Given the description of an element on the screen output the (x, y) to click on. 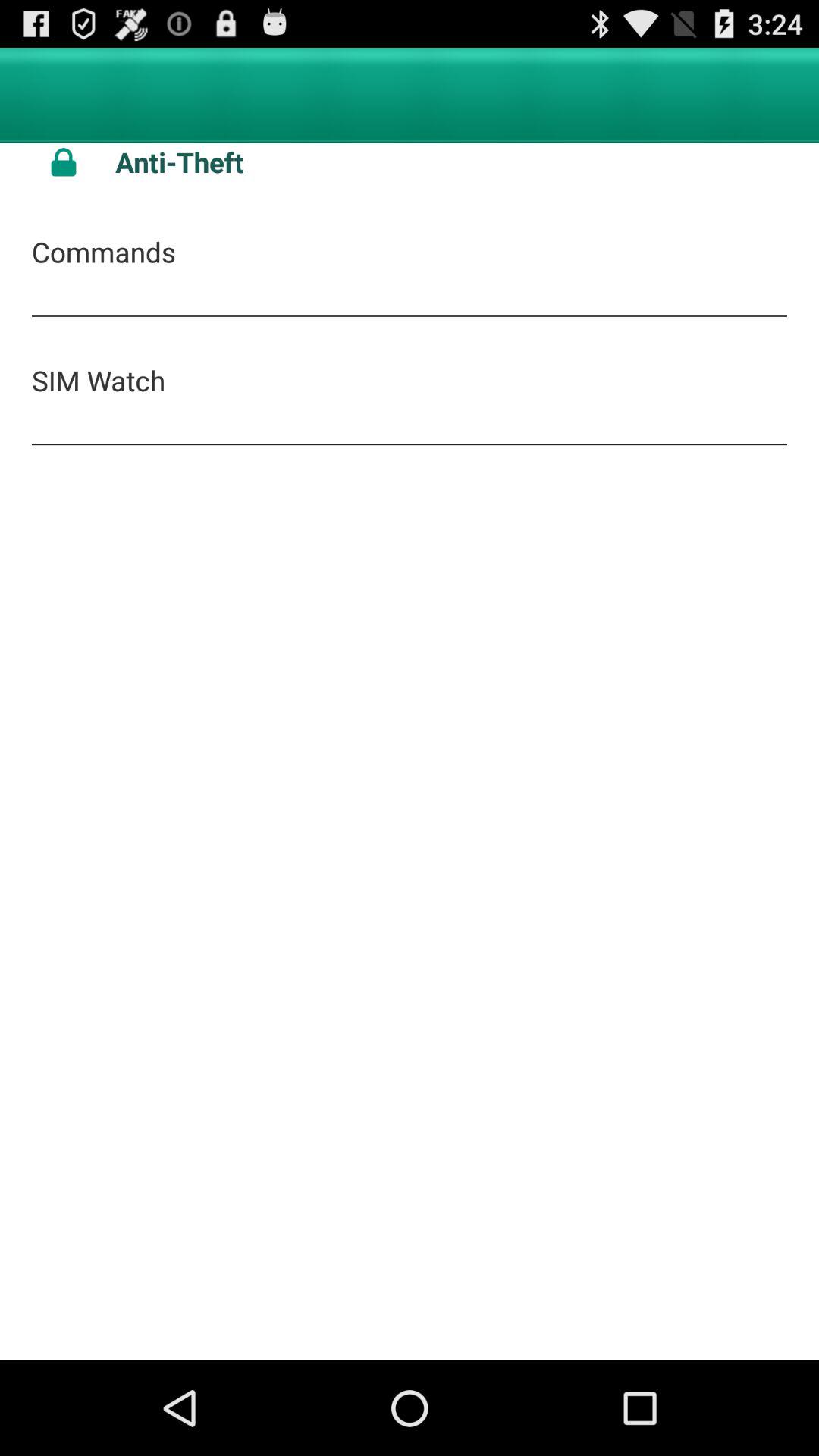
open icon next to the anti-theft app (63, 161)
